Given the description of an element on the screen output the (x, y) to click on. 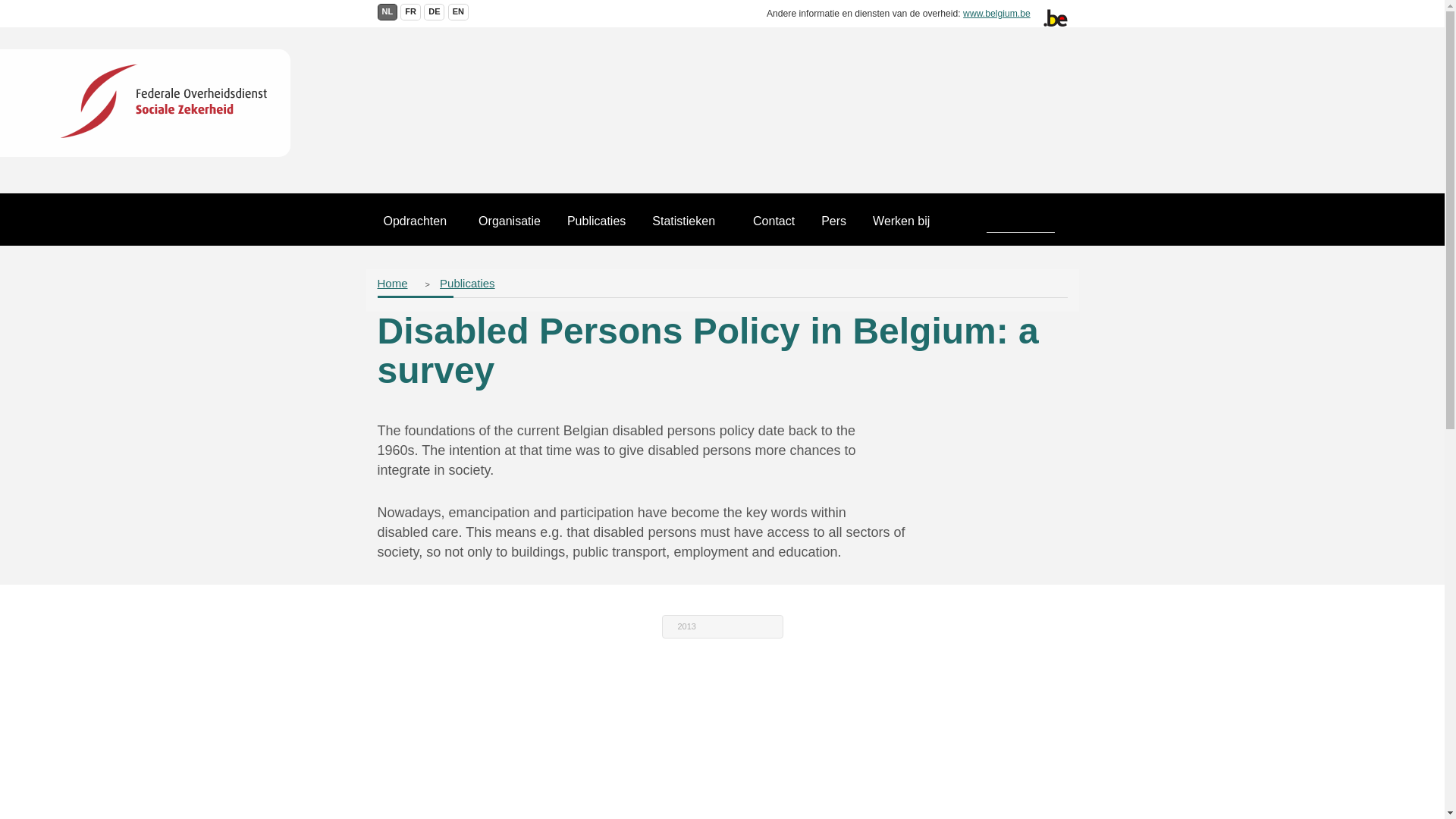
Disabled Persons Policy in Belgium: a survey (387, 12)
FR (410, 12)
www.belgium.be (996, 13)
Opdrachten (420, 227)
Organisatie (509, 227)
DE (433, 12)
Zoek (970, 222)
Disabled Persons Policy in Belgium: a survey (458, 12)
Werken bij (900, 227)
NL (387, 12)
Statistieken (683, 227)
Contact (773, 227)
Disabled Persons Policy in Belgium: a survey (410, 12)
Zoek (970, 222)
